Given the description of an element on the screen output the (x, y) to click on. 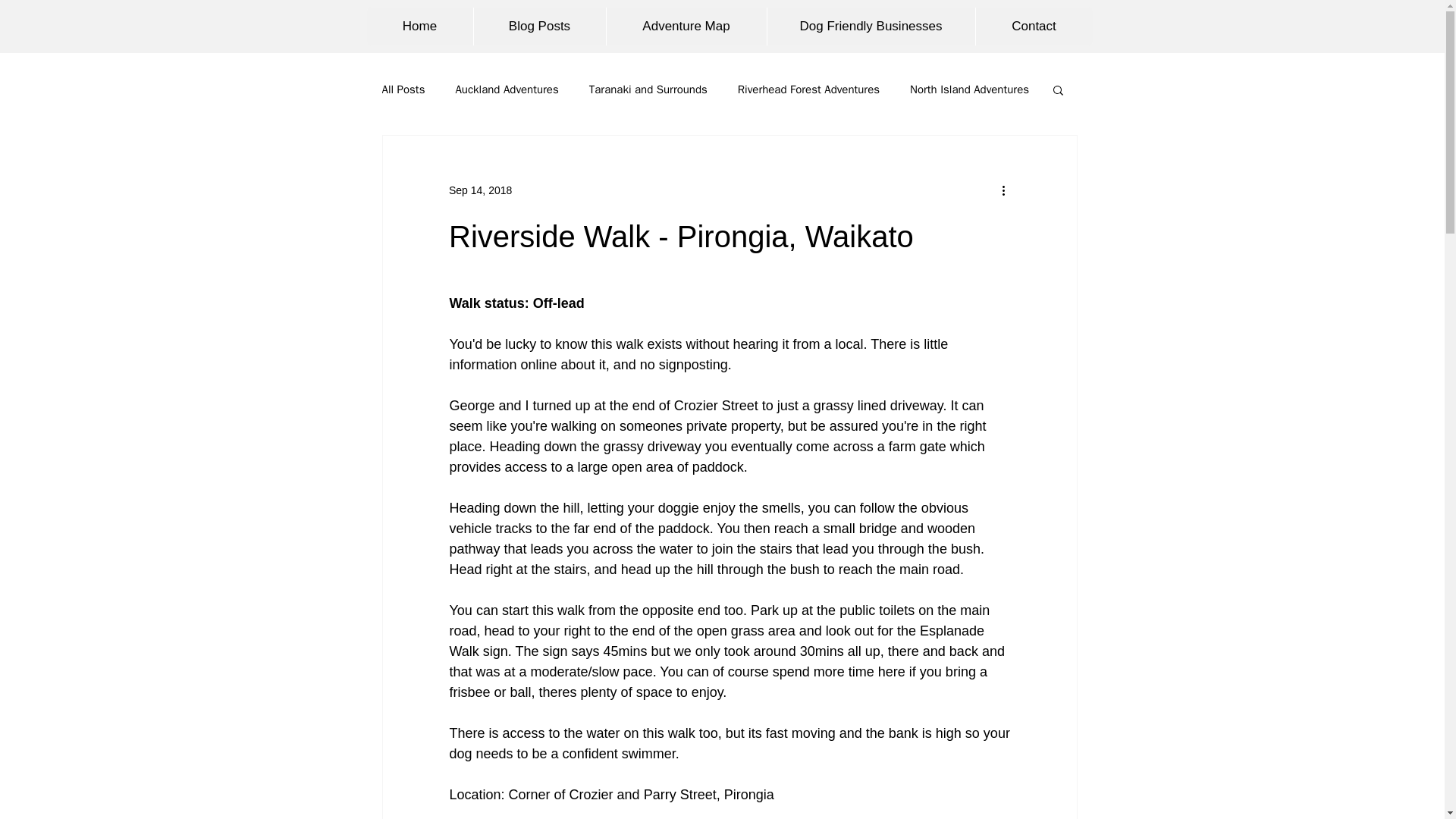
Home (419, 26)
North Island Adventures (969, 88)
Taranaki and Surrounds (648, 88)
Adventure Map (685, 26)
Contact (1034, 26)
Riverhead Forest Adventures (808, 88)
All Posts (403, 88)
Sep 14, 2018 (480, 189)
Blog Posts (539, 26)
Dog Friendly Businesses (869, 26)
